Given the description of an element on the screen output the (x, y) to click on. 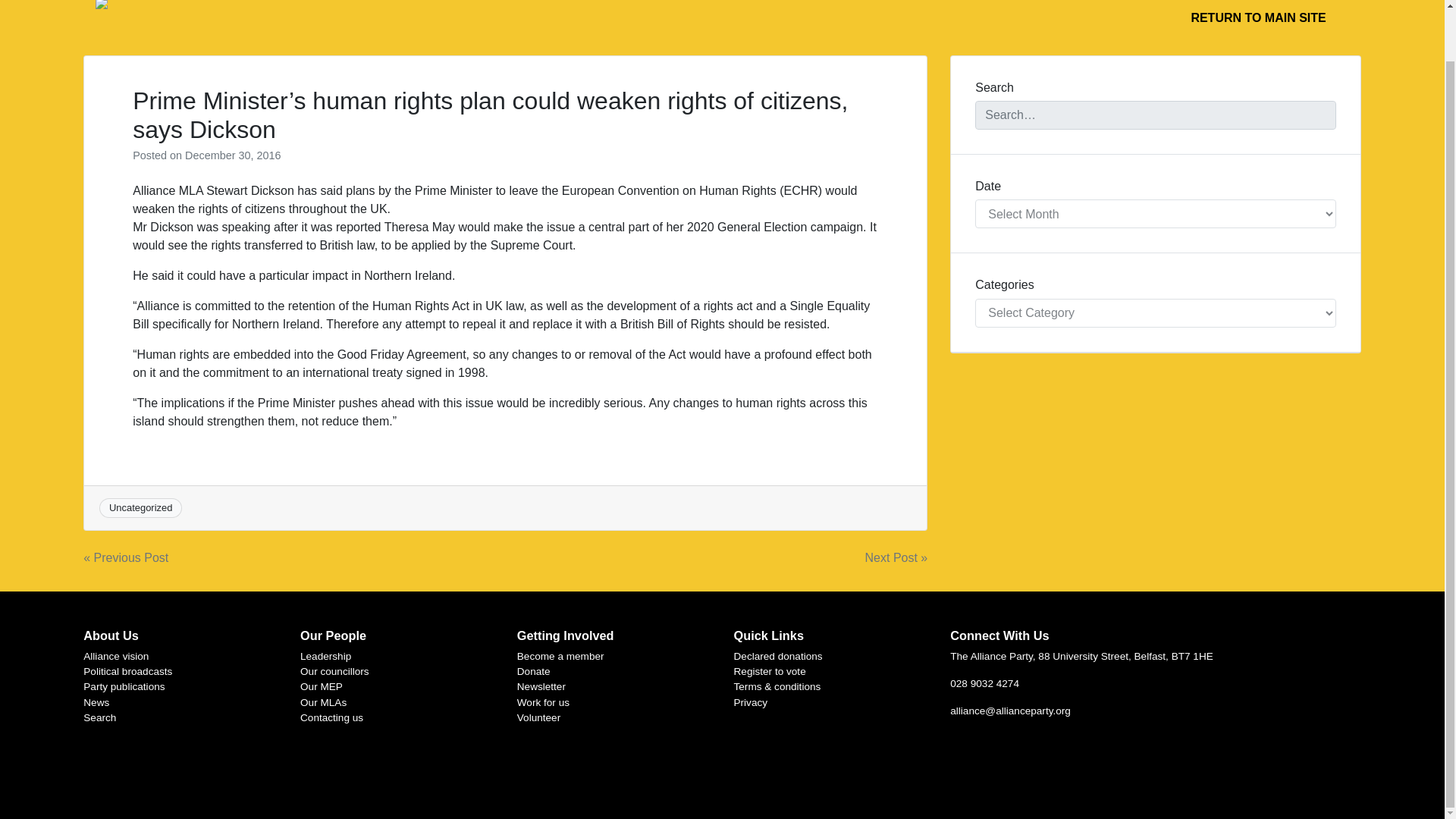
028 9032 4274 (984, 683)
Privacy (750, 702)
Declared donations (777, 655)
Register to vote (769, 671)
Become a member (560, 655)
Our MLAs (322, 702)
News (95, 702)
Party publications (123, 686)
Our MEP (320, 686)
Donate (533, 671)
